Given the description of an element on the screen output the (x, y) to click on. 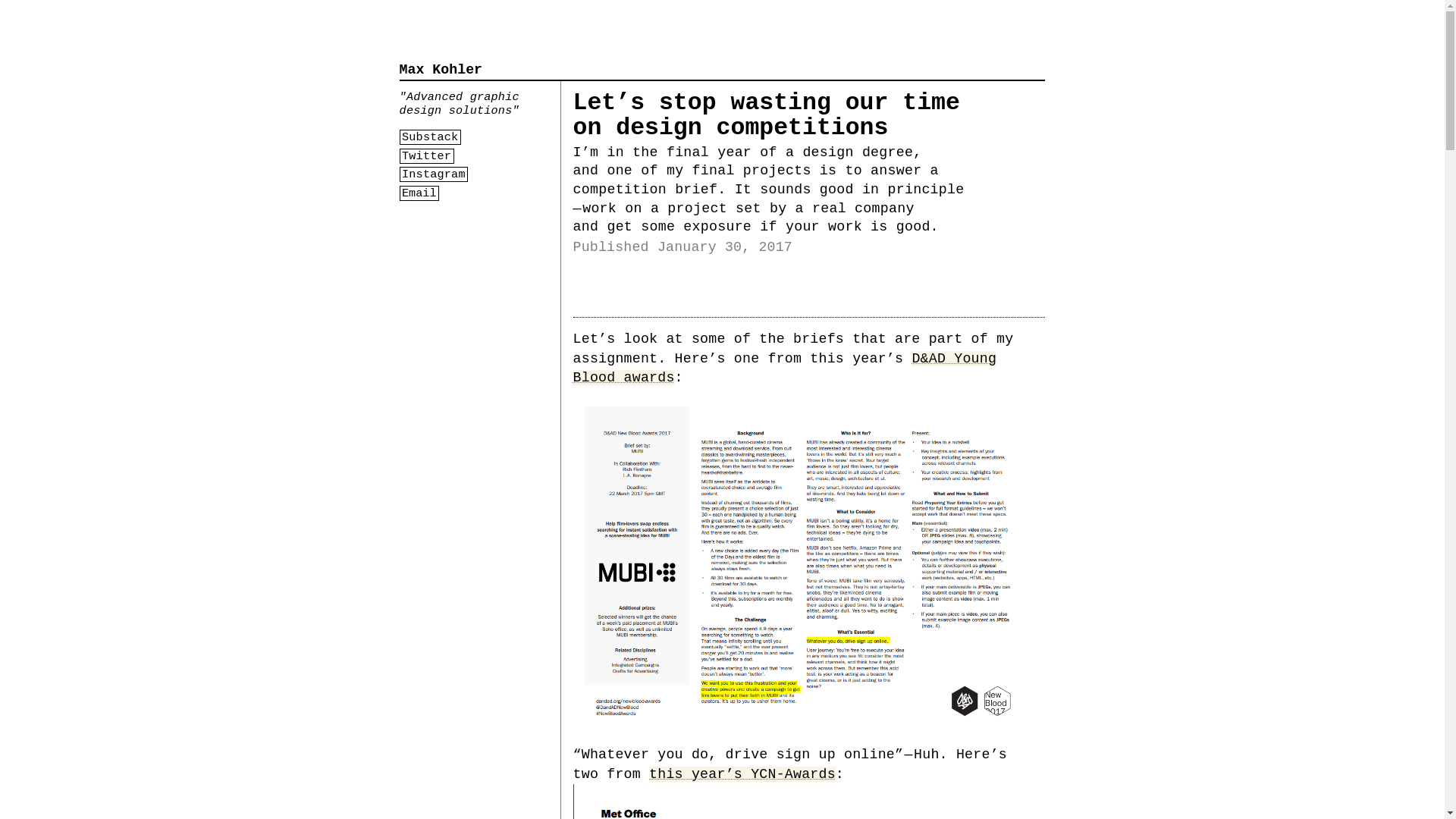
Substack (429, 136)
Twitter (426, 155)
Email (418, 193)
Max Kohler (439, 69)
Instagram (433, 174)
